Given the description of an element on the screen output the (x, y) to click on. 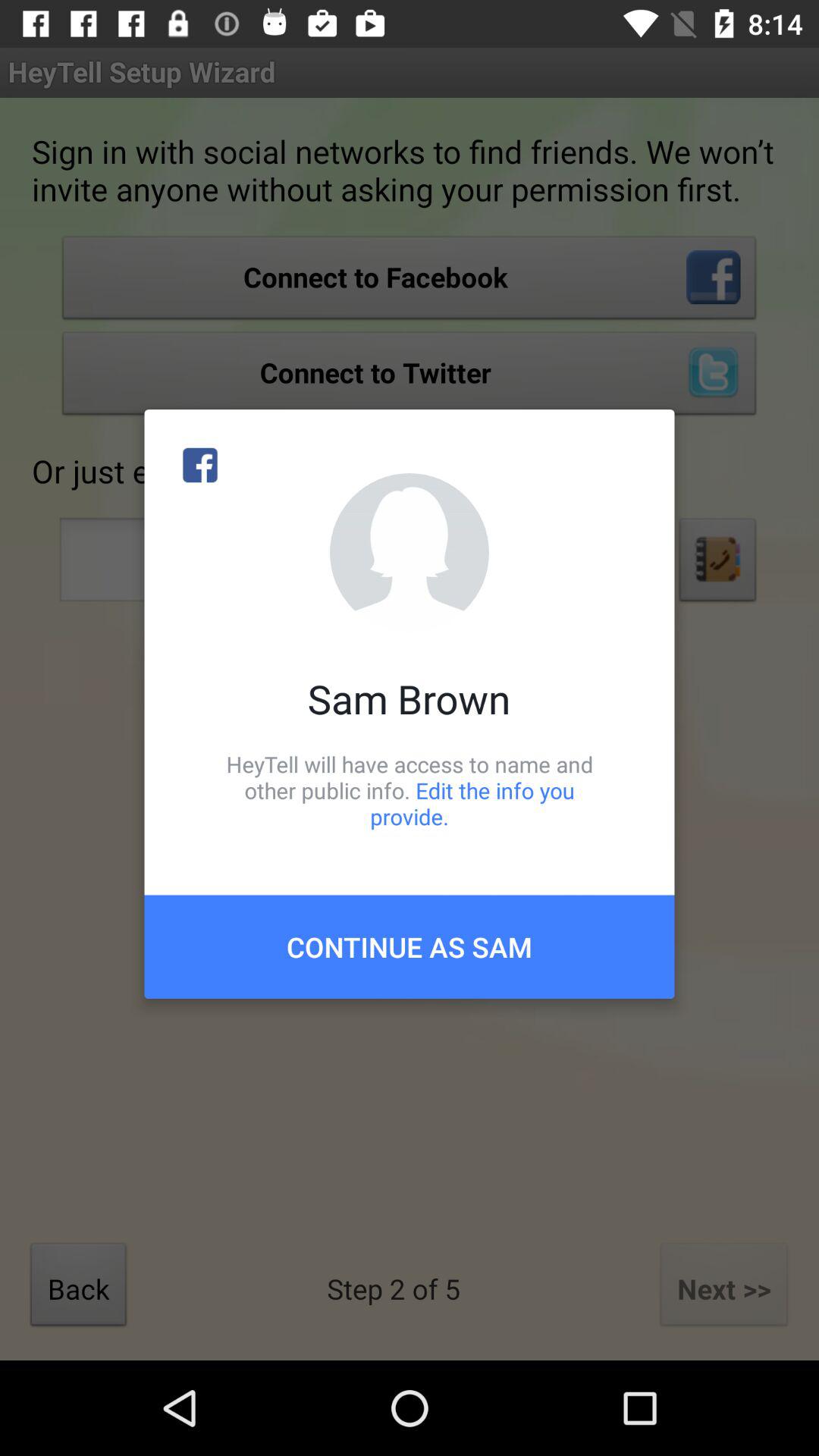
press the continue as sam item (409, 946)
